Given the description of an element on the screen output the (x, y) to click on. 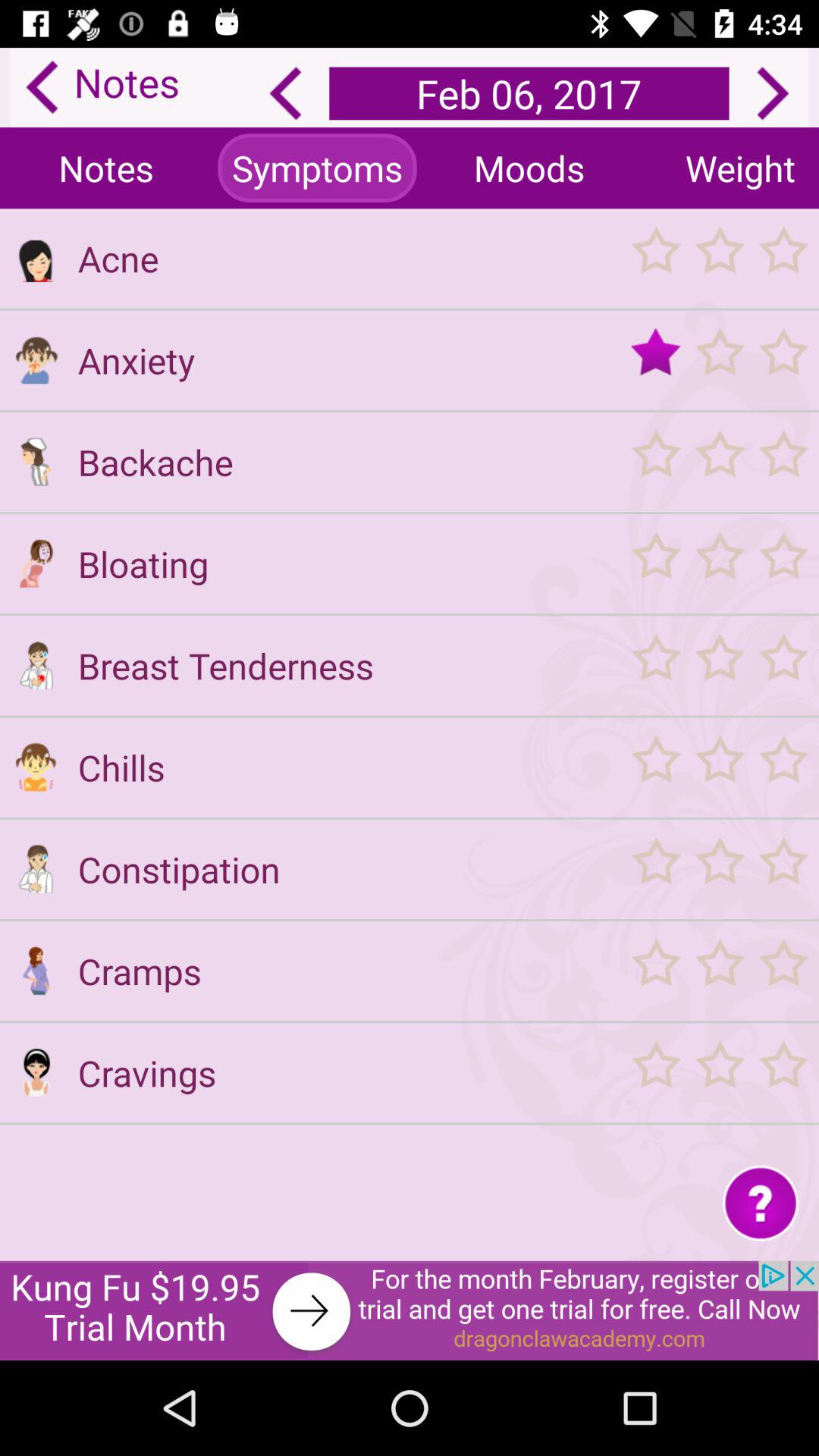
banner advertisement (409, 1310)
